Given the description of an element on the screen output the (x, y) to click on. 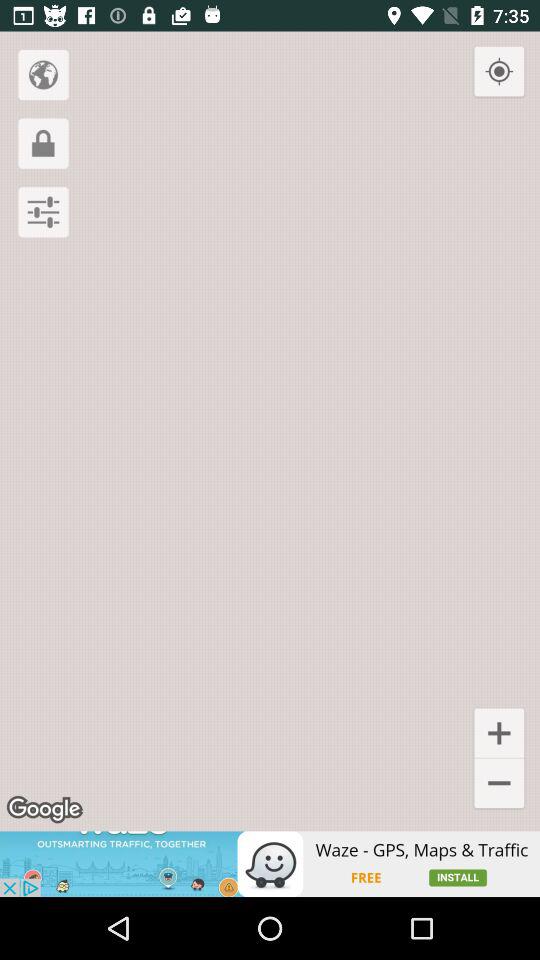
lock (43, 143)
